Given the description of an element on the screen output the (x, y) to click on. 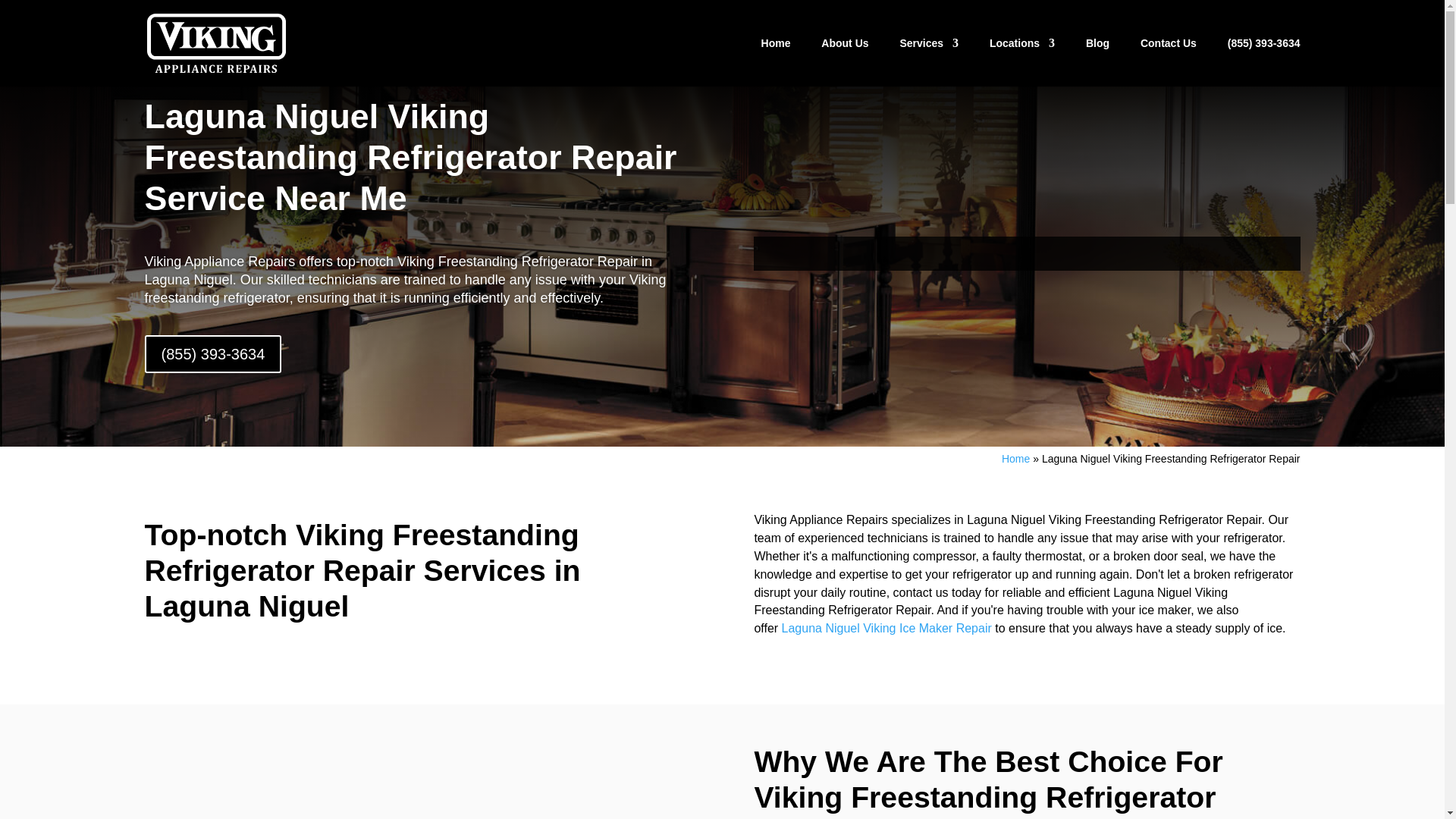
Locations (1022, 57)
Contact Us (1168, 57)
Services (928, 57)
Laguna Niguel Viking Ice Maker Repair (886, 627)
Blog (1097, 57)
Home (775, 57)
About Us (844, 57)
Home (1015, 458)
